Given the description of an element on the screen output the (x, y) to click on. 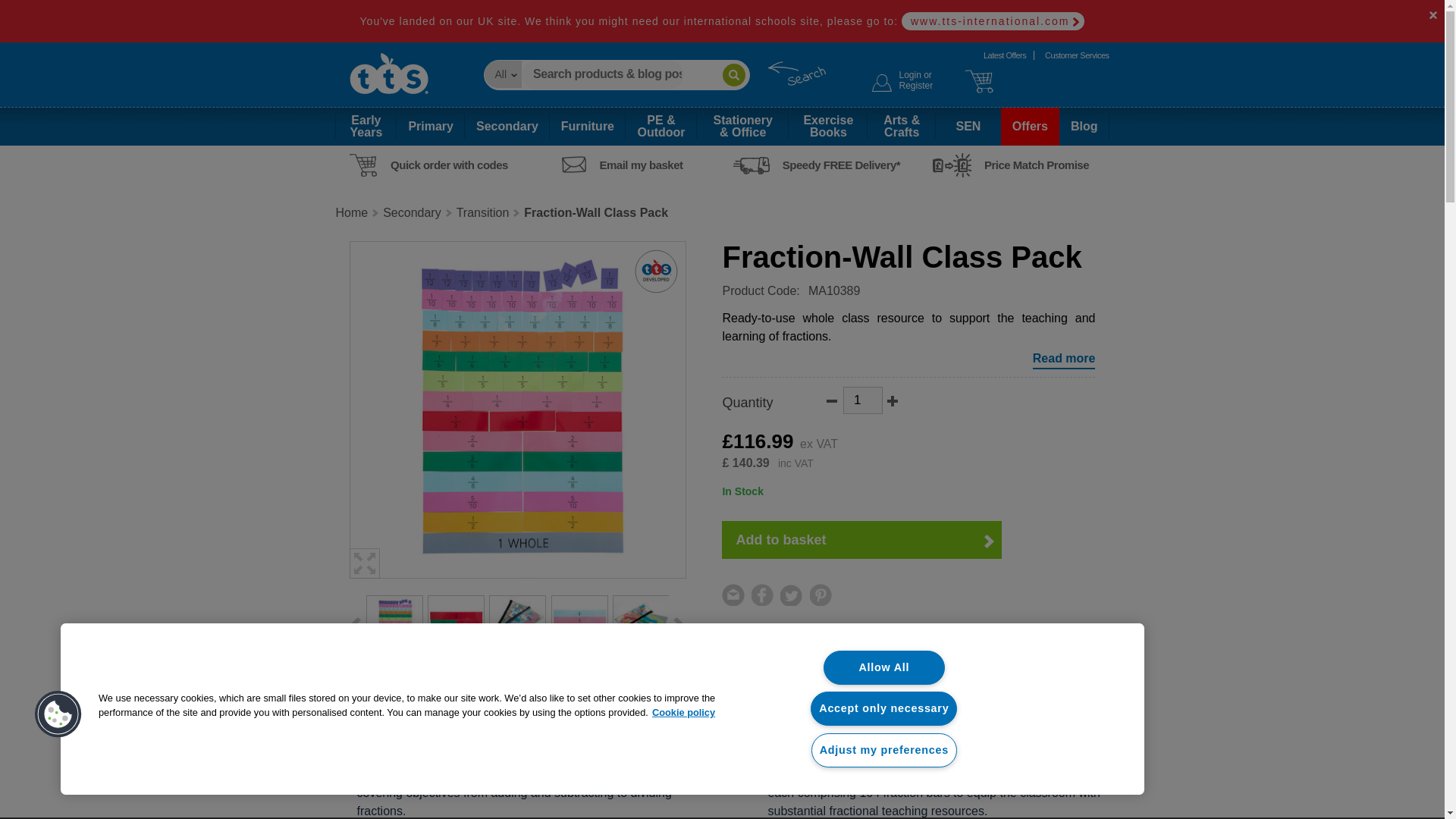
Cookies Button (57, 714)
Customer Services (1076, 54)
Latest Offers (1004, 54)
TTS School Resources Online Shop (902, 81)
customer services (388, 79)
Login or (1076, 54)
Latest Offers (902, 81)
Early Years (1004, 54)
1 (365, 126)
All (862, 400)
www.tts-international.com (502, 73)
